Given the description of an element on the screen output the (x, y) to click on. 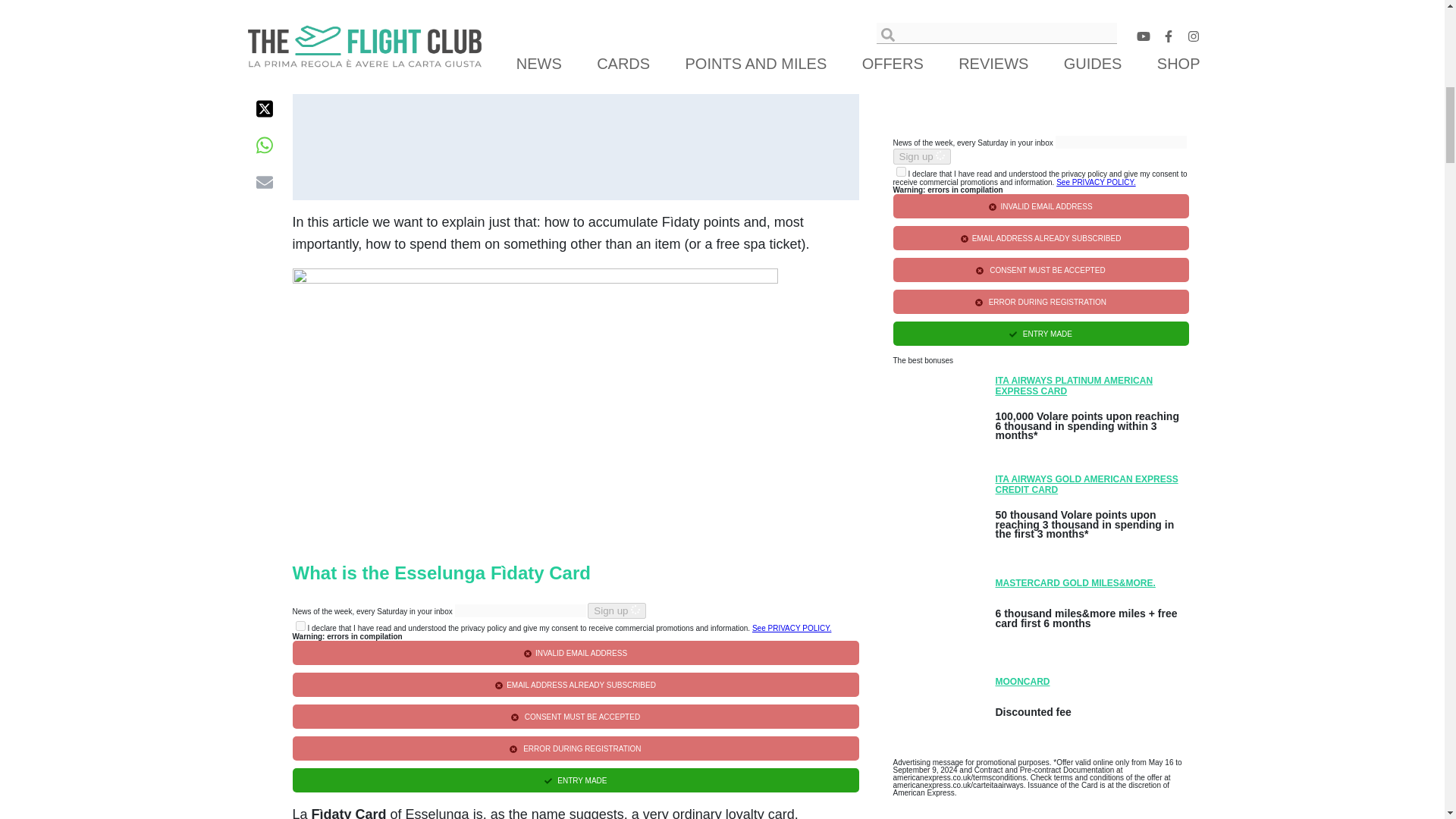
See PRIVACY POLICY. (791, 628)
1 (300, 625)
Sign up (617, 610)
1 (900, 171)
